Given the description of an element on the screen output the (x, y) to click on. 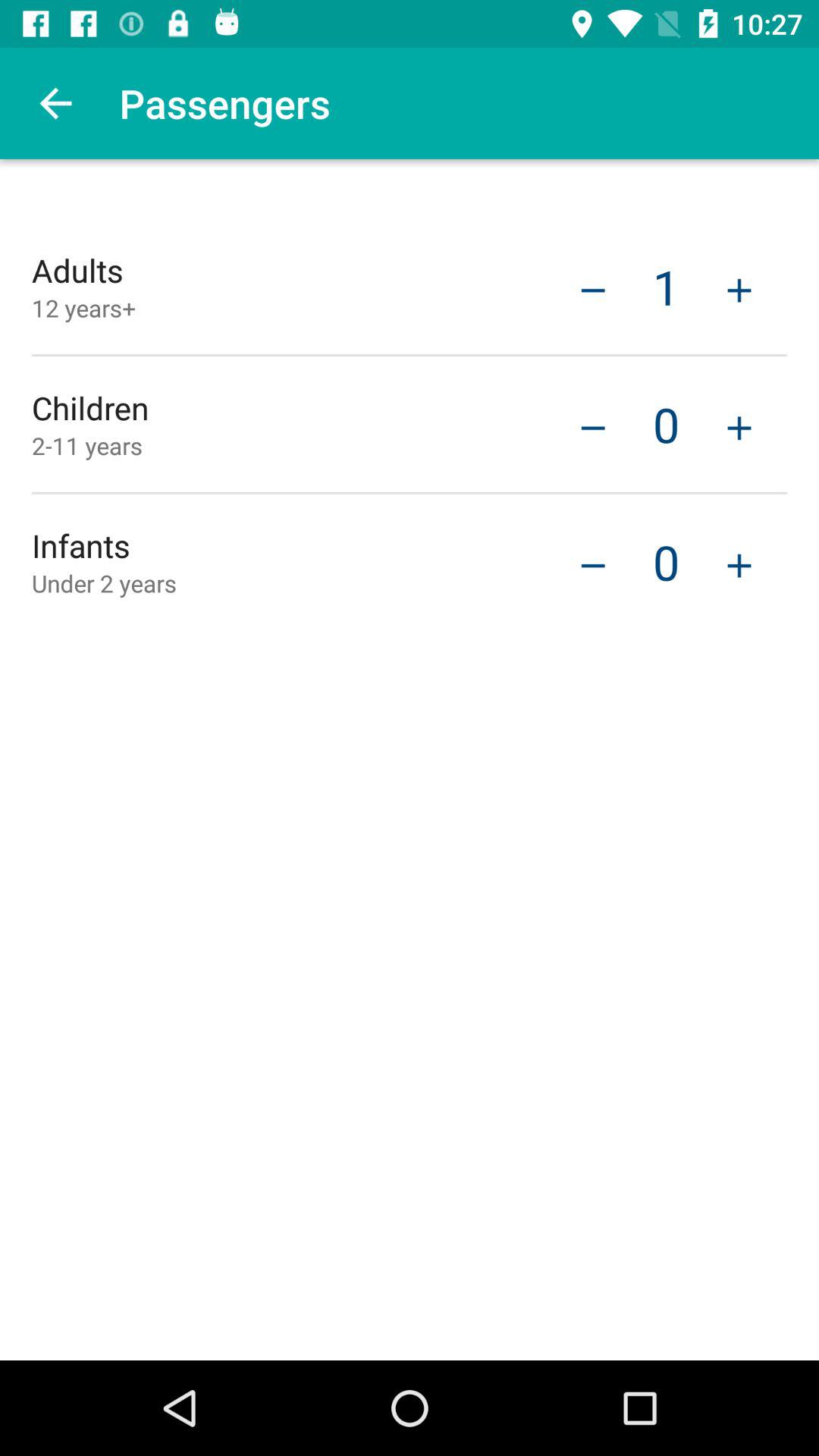
turn on app next to the passengers icon (55, 103)
